Given the description of an element on the screen output the (x, y) to click on. 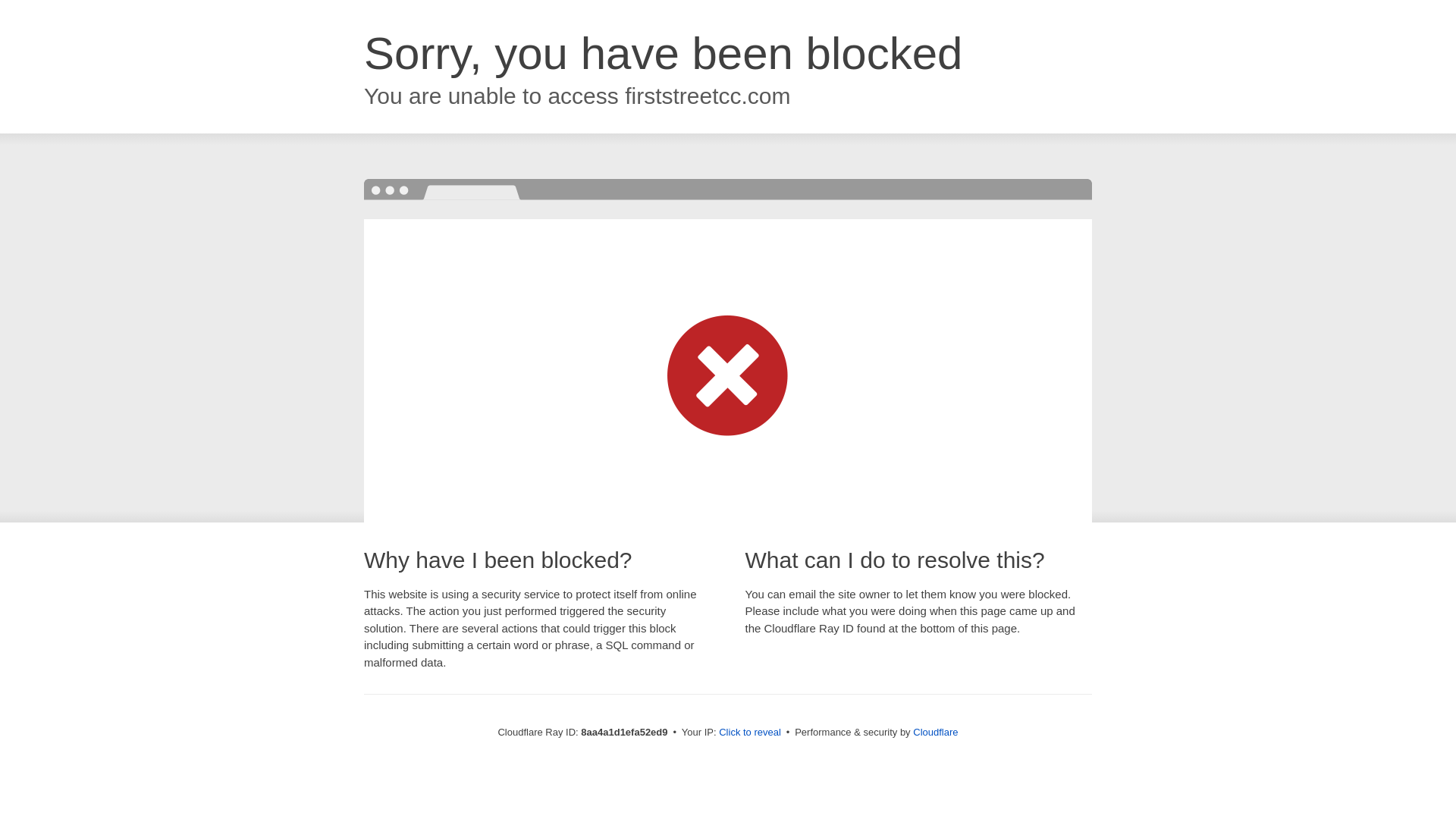
Cloudflare (935, 731)
Click to reveal (749, 732)
